Given the description of an element on the screen output the (x, y) to click on. 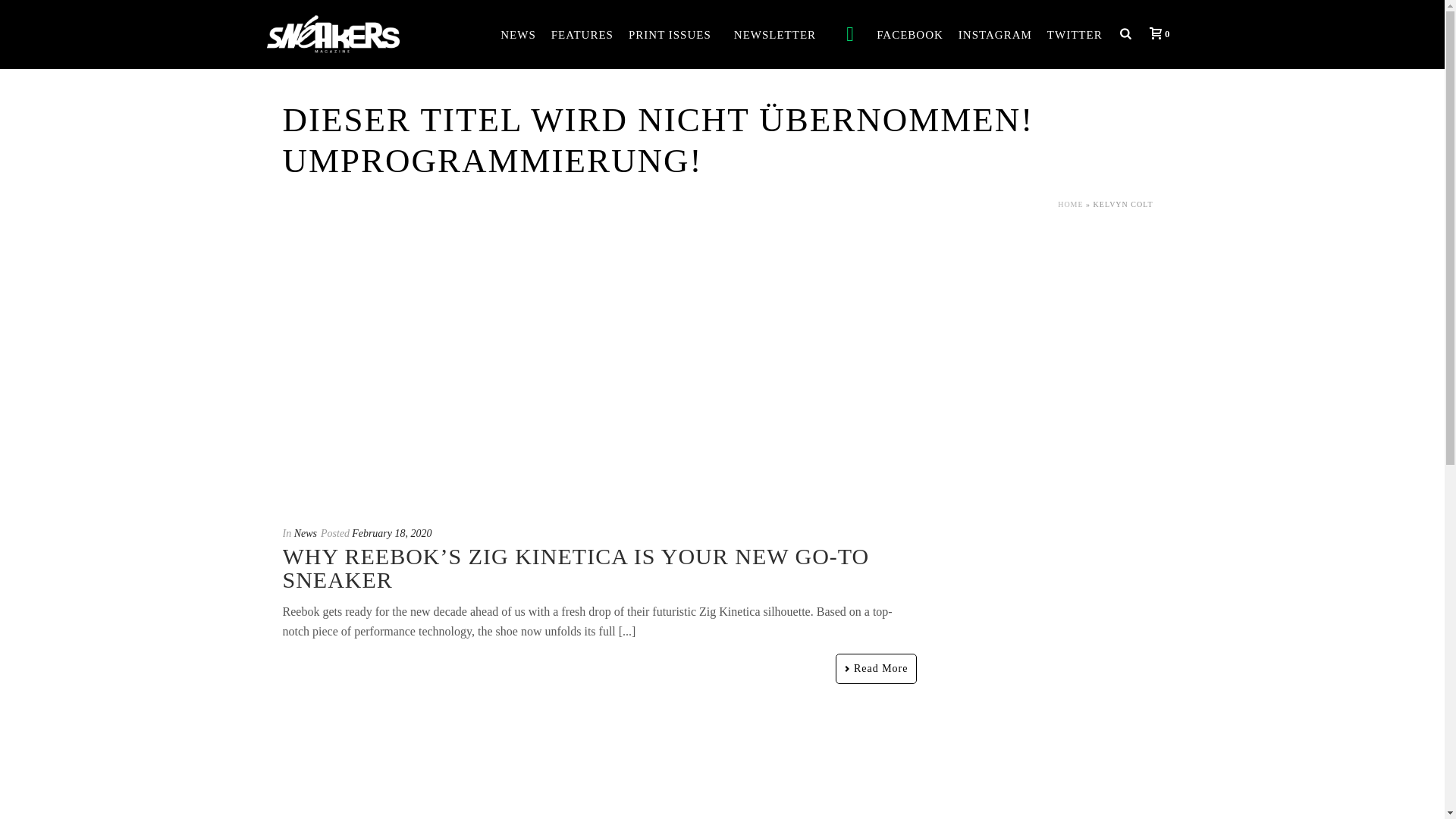
NEWS (518, 34)
FACEBOOK (909, 34)
FEATURES (582, 34)
WHATSAPP NEWSLETTER (853, 34)
FEATURES (582, 34)
PRINT ISSUES (670, 34)
FACEBOOK (909, 34)
NEWSLETTER (775, 34)
NEWS (518, 34)
TWITTER (1074, 34)
PRINT ISSUES (670, 34)
INSTAGRAM (994, 34)
NEWSLETTER (775, 34)
TWITTER (1074, 34)
Kelvyn Colt and Reebok Celebrate Individuality over Hype (598, 776)
